Given the description of an element on the screen output the (x, y) to click on. 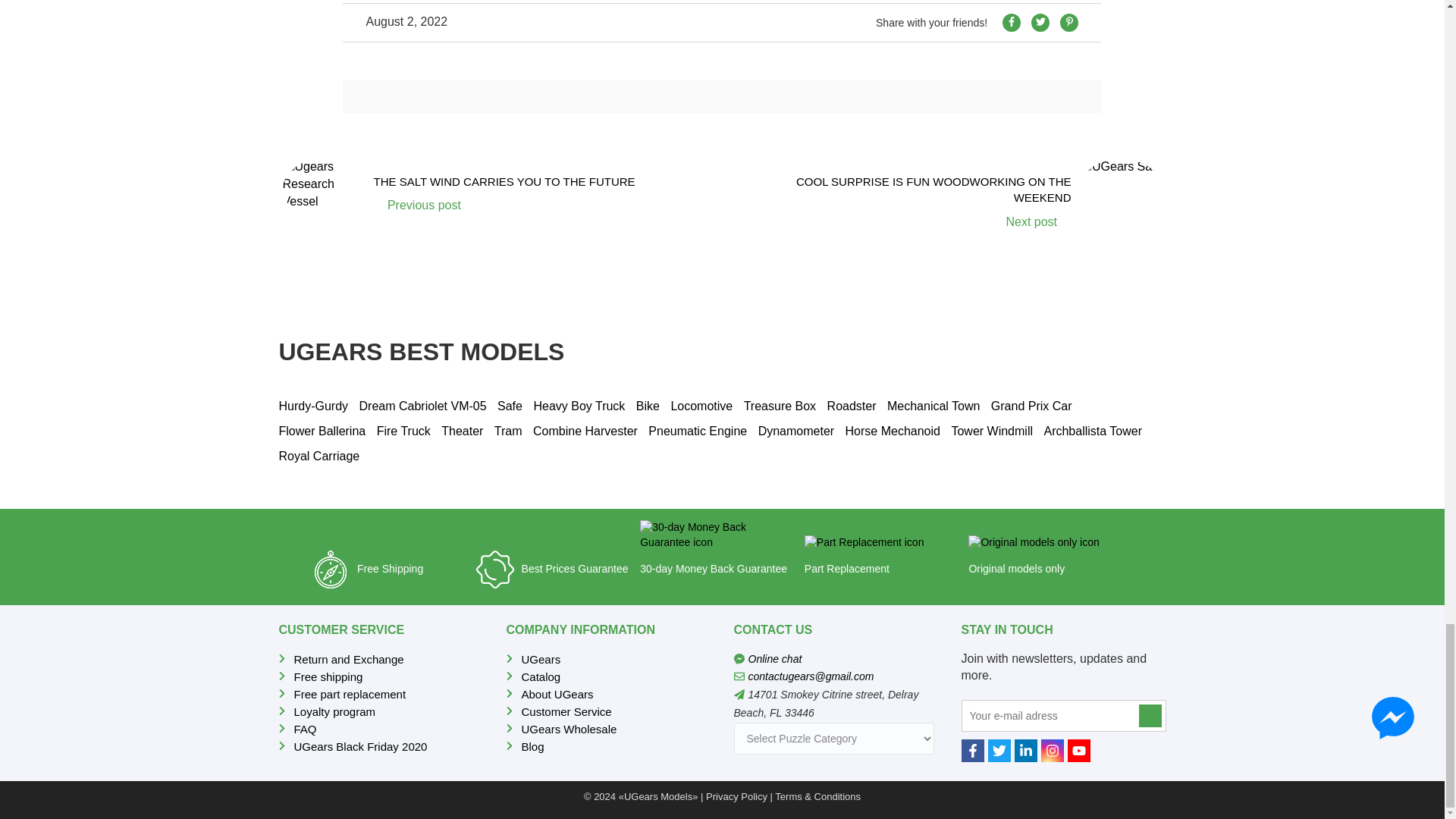
Share on Facebook (1011, 22)
Share on Twitter (1039, 22)
Share on Pinterest (489, 188)
Send (1068, 22)
